Given the description of an element on the screen output the (x, y) to click on. 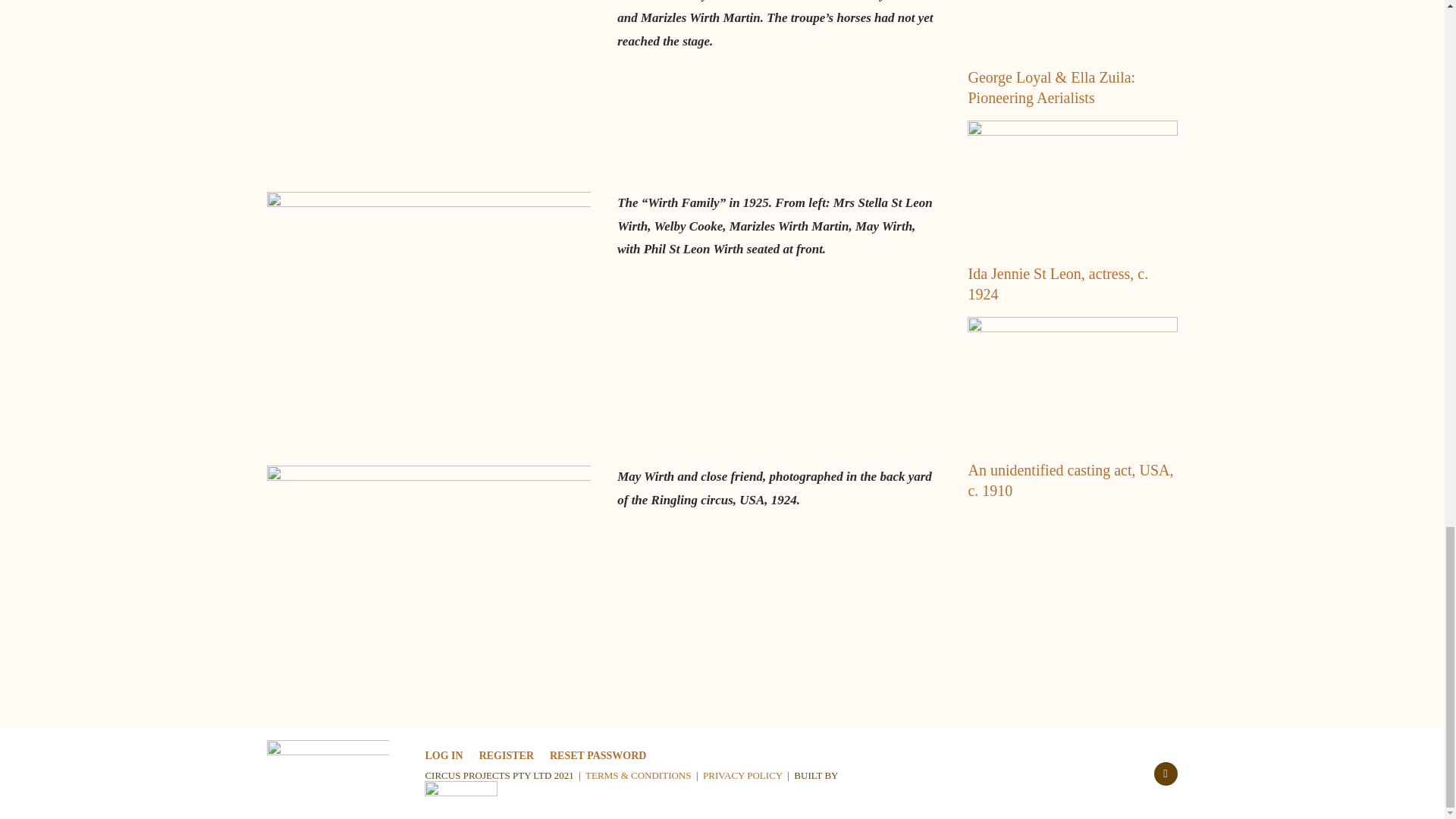
May Wirth 2 copy (427, 88)
May Wirth copy (427, 581)
May Wirth 1 copy (427, 320)
